Given the description of an element on the screen output the (x, y) to click on. 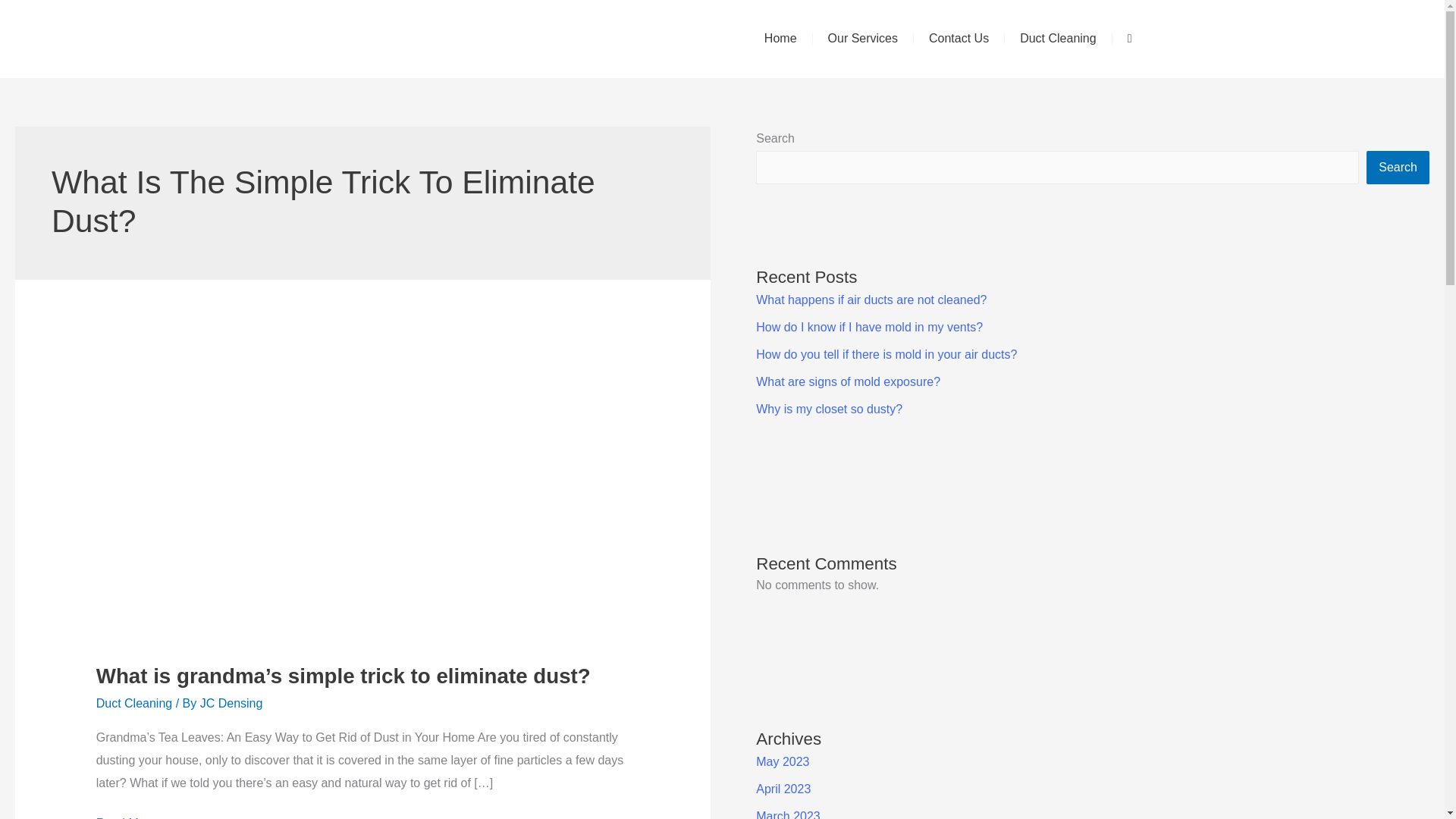
Duct Cleaning (1058, 38)
View all posts by JC Densing (231, 703)
Home (780, 38)
Contact Us (959, 38)
Our Services (862, 38)
